Given the description of an element on the screen output the (x, y) to click on. 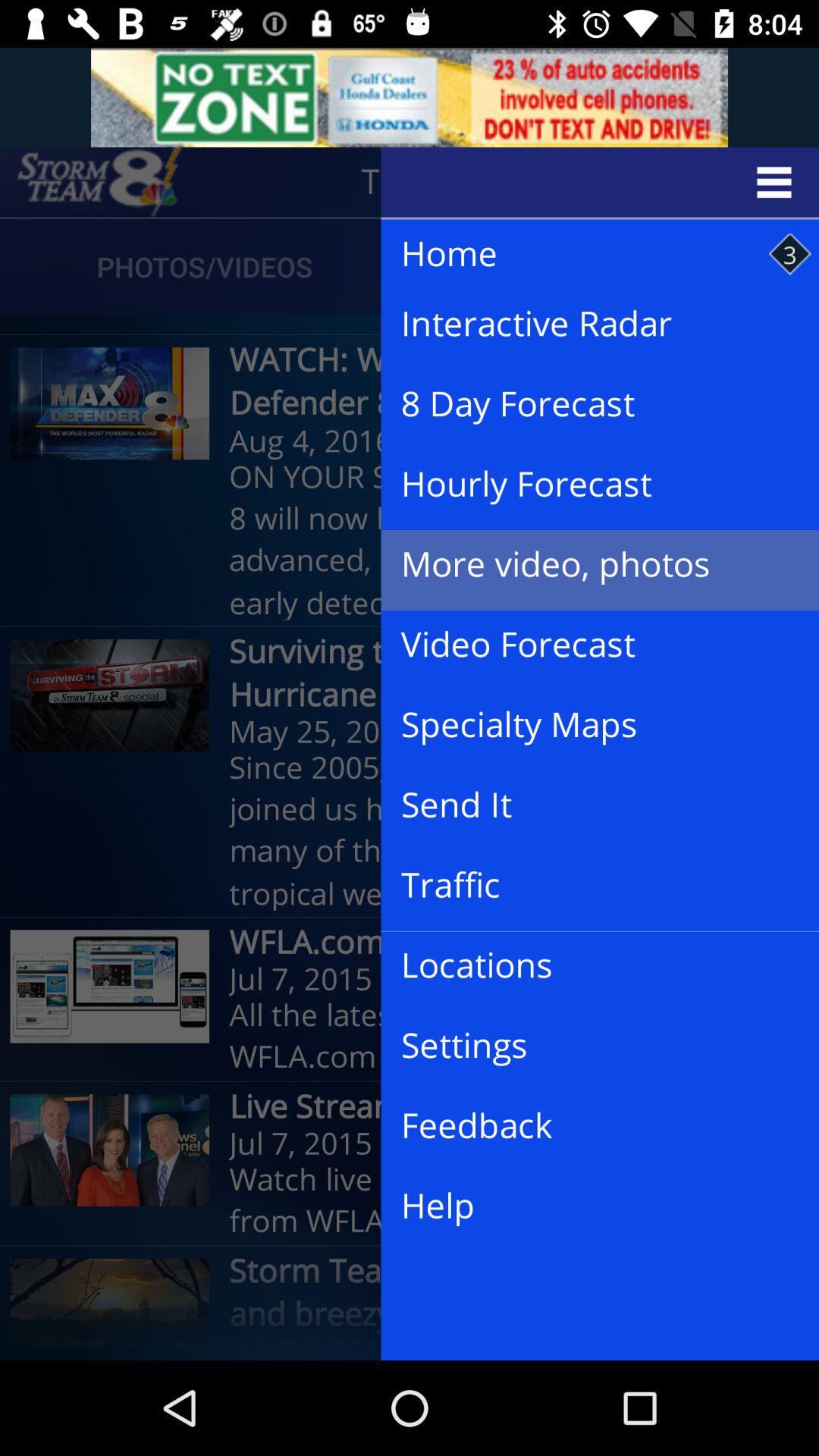
advertisements (409, 97)
